Given the description of an element on the screen output the (x, y) to click on. 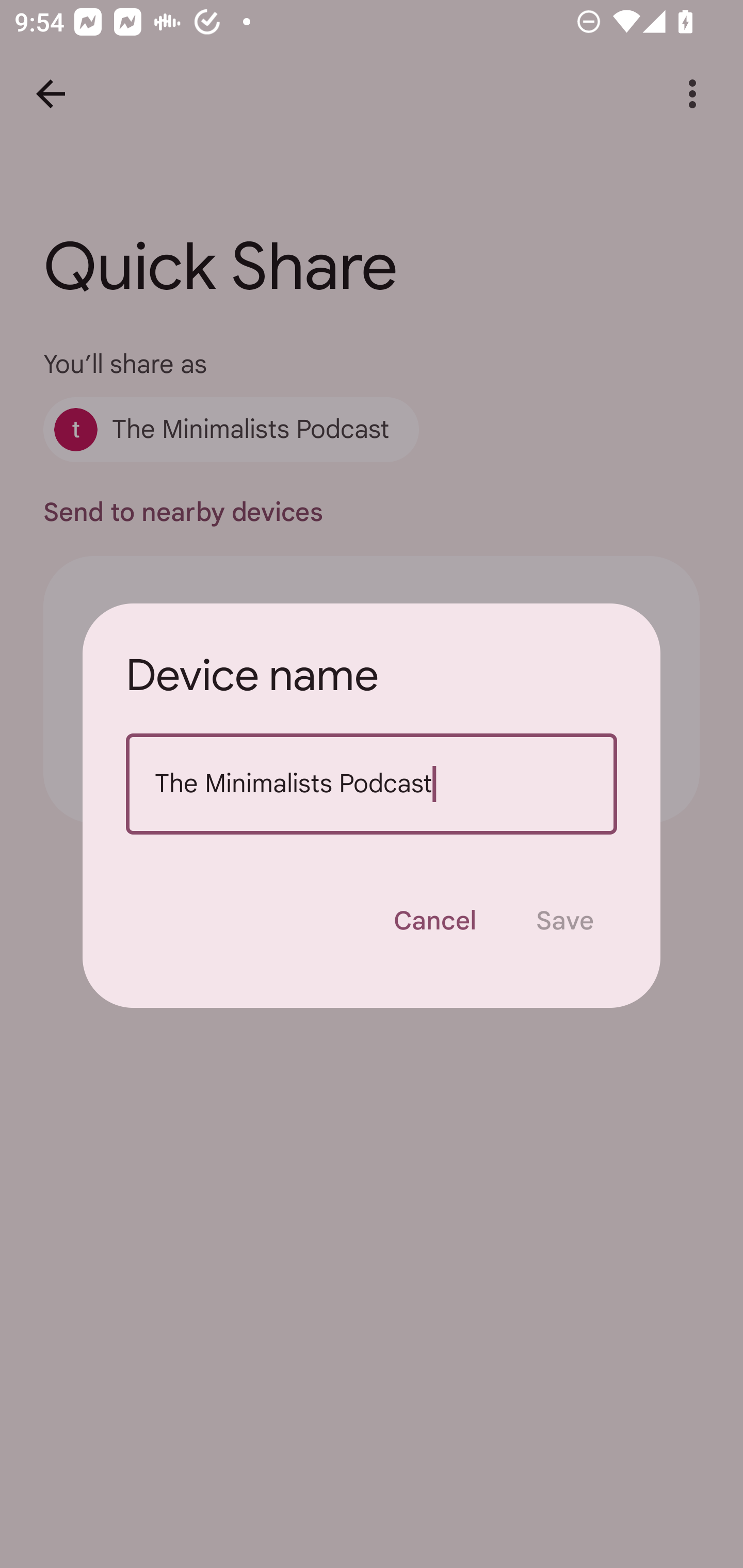
The Minimalists Podcast Device name (371, 783)
Cancel (434, 921)
Save (564, 921)
